Given the description of an element on the screen output the (x, y) to click on. 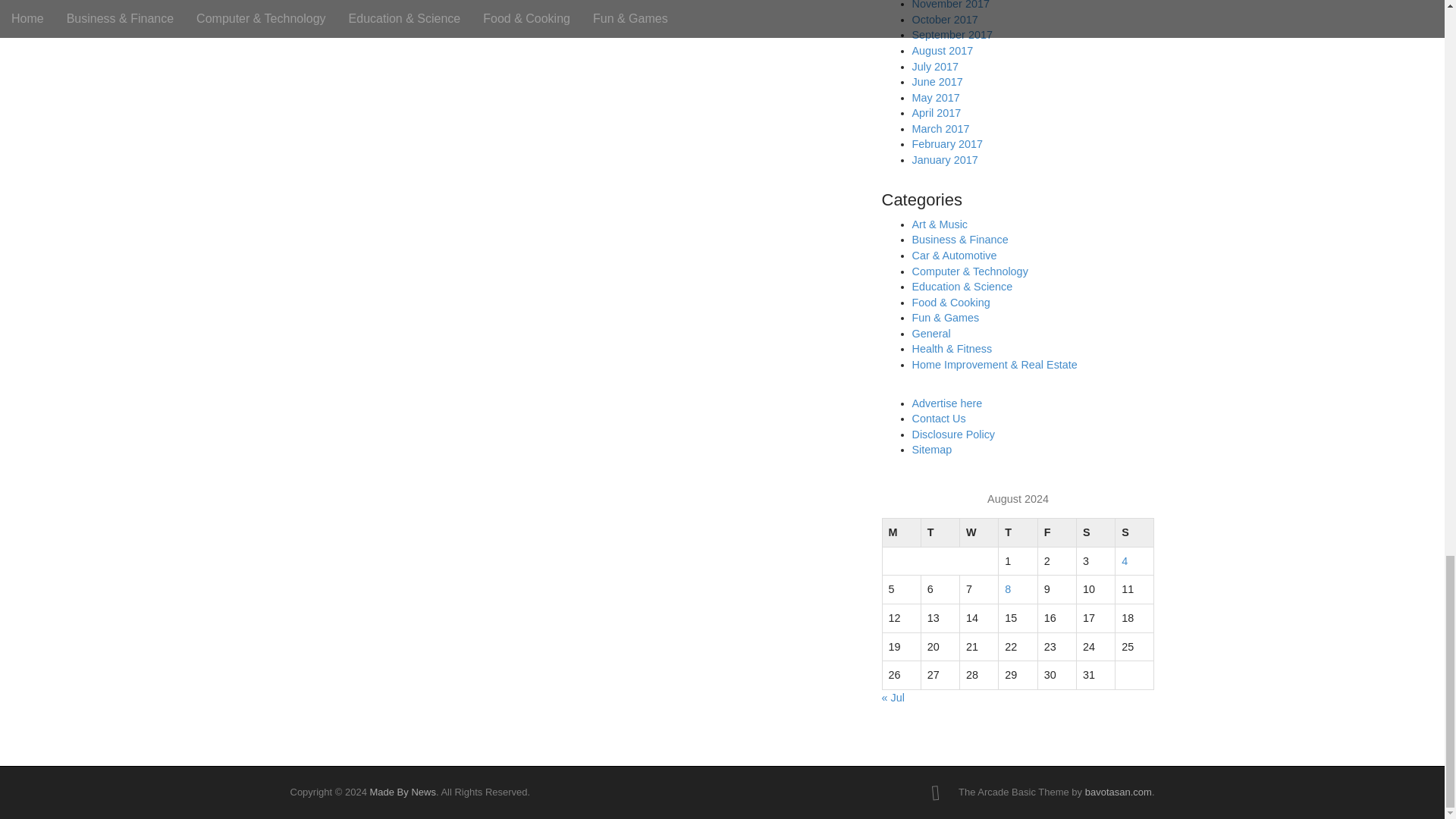
Monday (901, 532)
Sunday (1134, 532)
Thursday (1017, 532)
Wednesday (978, 532)
Saturday (1095, 532)
Tuesday (939, 532)
Friday (1055, 532)
